Given the description of an element on the screen output the (x, y) to click on. 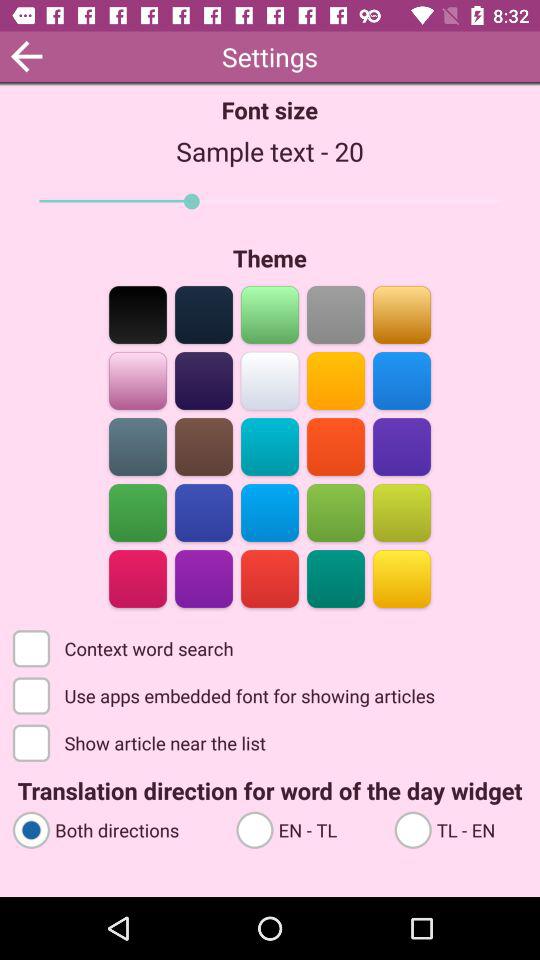
choose the theme color (137, 379)
